Given the description of an element on the screen output the (x, y) to click on. 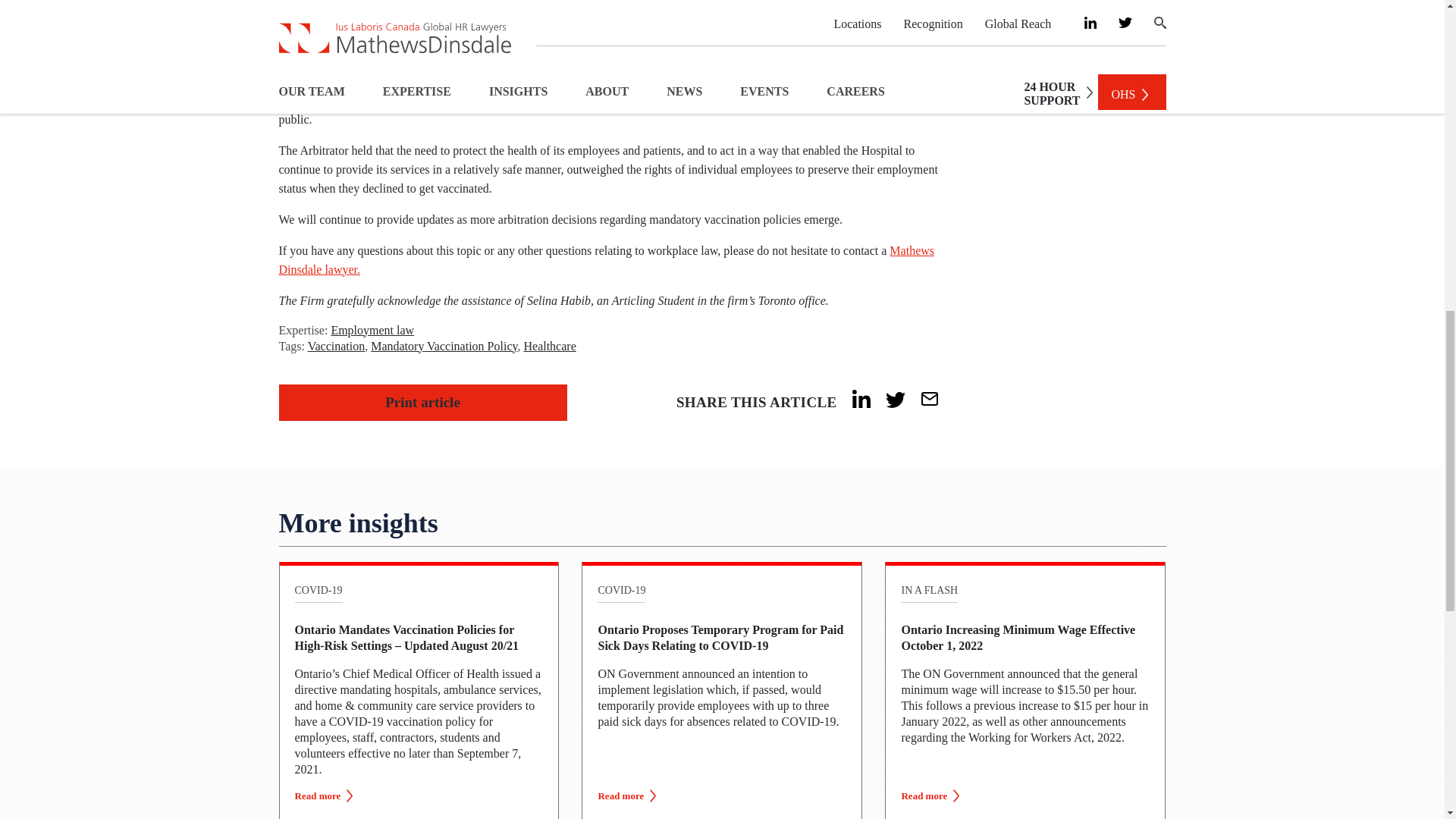
Mandatory Vaccination Policy (443, 345)
Mathews Dinsdale lawyer. (606, 260)
Read more (622, 795)
Vaccination (336, 345)
Employment law (371, 328)
Healthcare (548, 345)
Read more (320, 795)
Print article (423, 402)
Ontario Increasing Minimum Wage Effective October 1, 2022 (1018, 637)
